Given the description of an element on the screen output the (x, y) to click on. 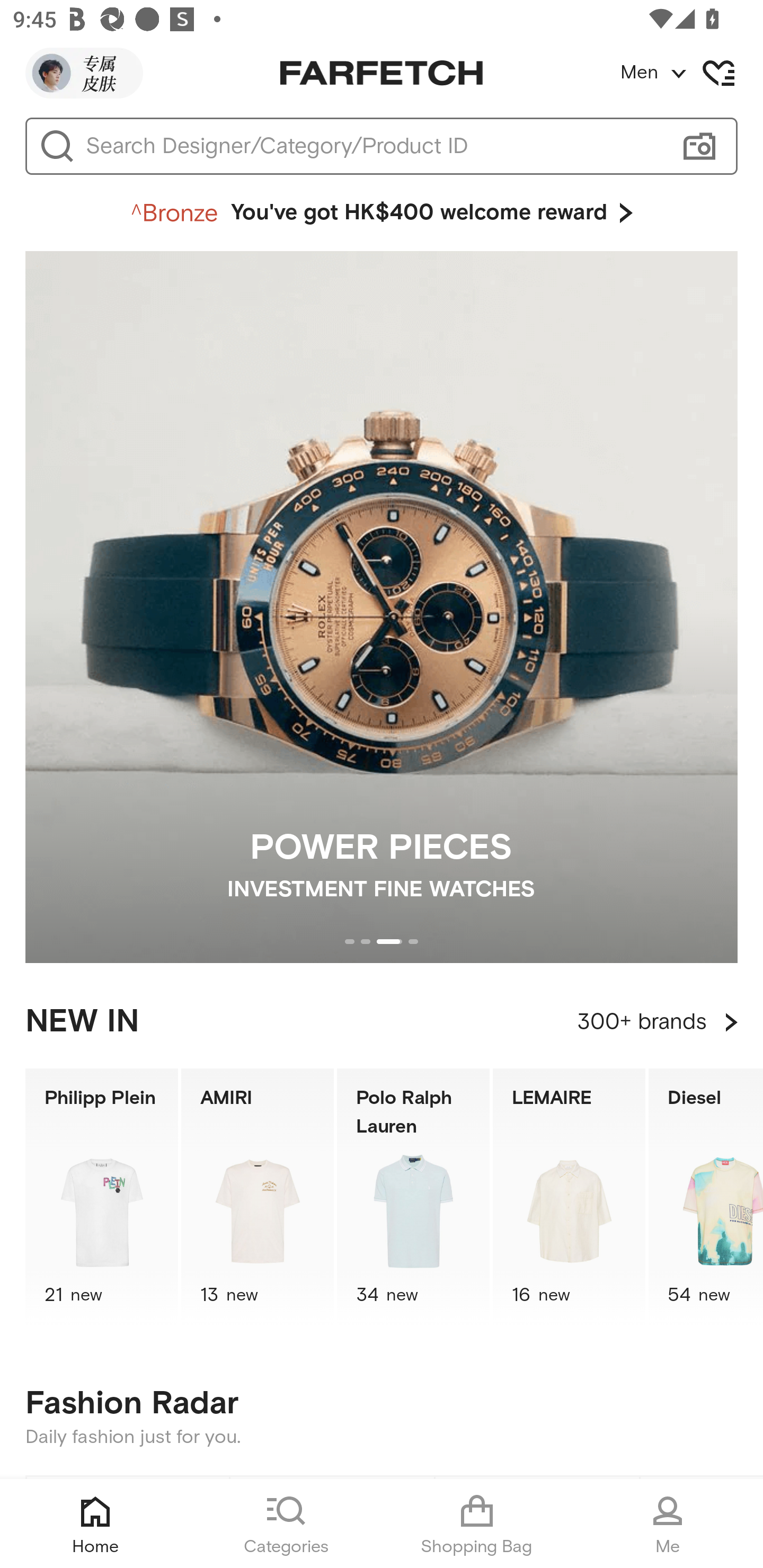
Men (691, 72)
Search Designer/Category/Product ID (373, 146)
You've got HK$400 welcome reward (381, 213)
NEW IN 300+ brands (381, 1021)
Philipp Plein 21  new (101, 1196)
AMIRI 13  new (257, 1196)
Polo Ralph Lauren 34  new (413, 1196)
LEMAIRE 16  new (568, 1196)
Diesel 54  new (705, 1196)
Categories (285, 1523)
Shopping Bag (476, 1523)
Me (667, 1523)
